Given the description of an element on the screen output the (x, y) to click on. 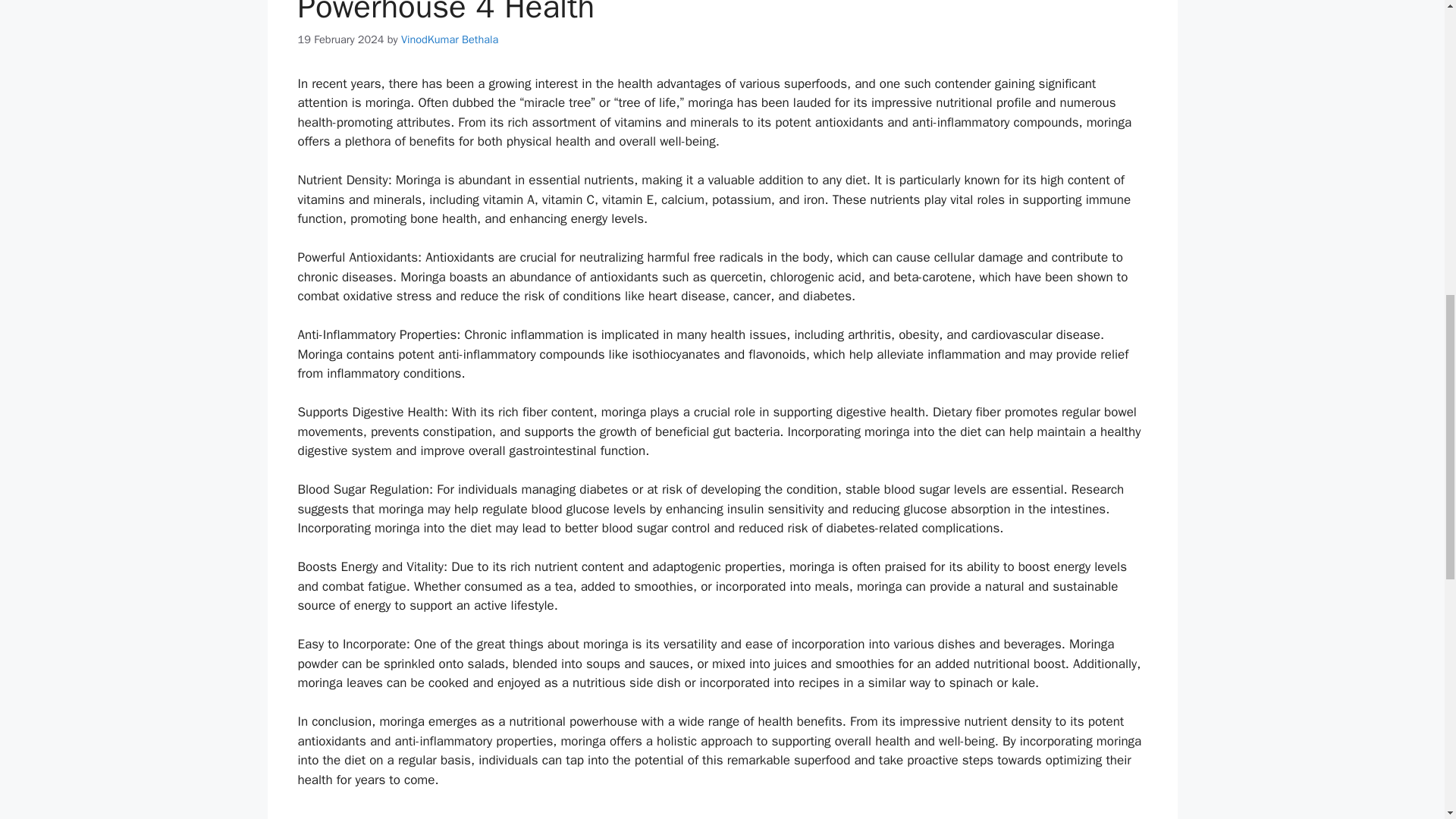
Scroll back to top (1406, 720)
View all posts by VinodKumar Bethala (449, 38)
VinodKumar Bethala (449, 38)
